Given the description of an element on the screen output the (x, y) to click on. 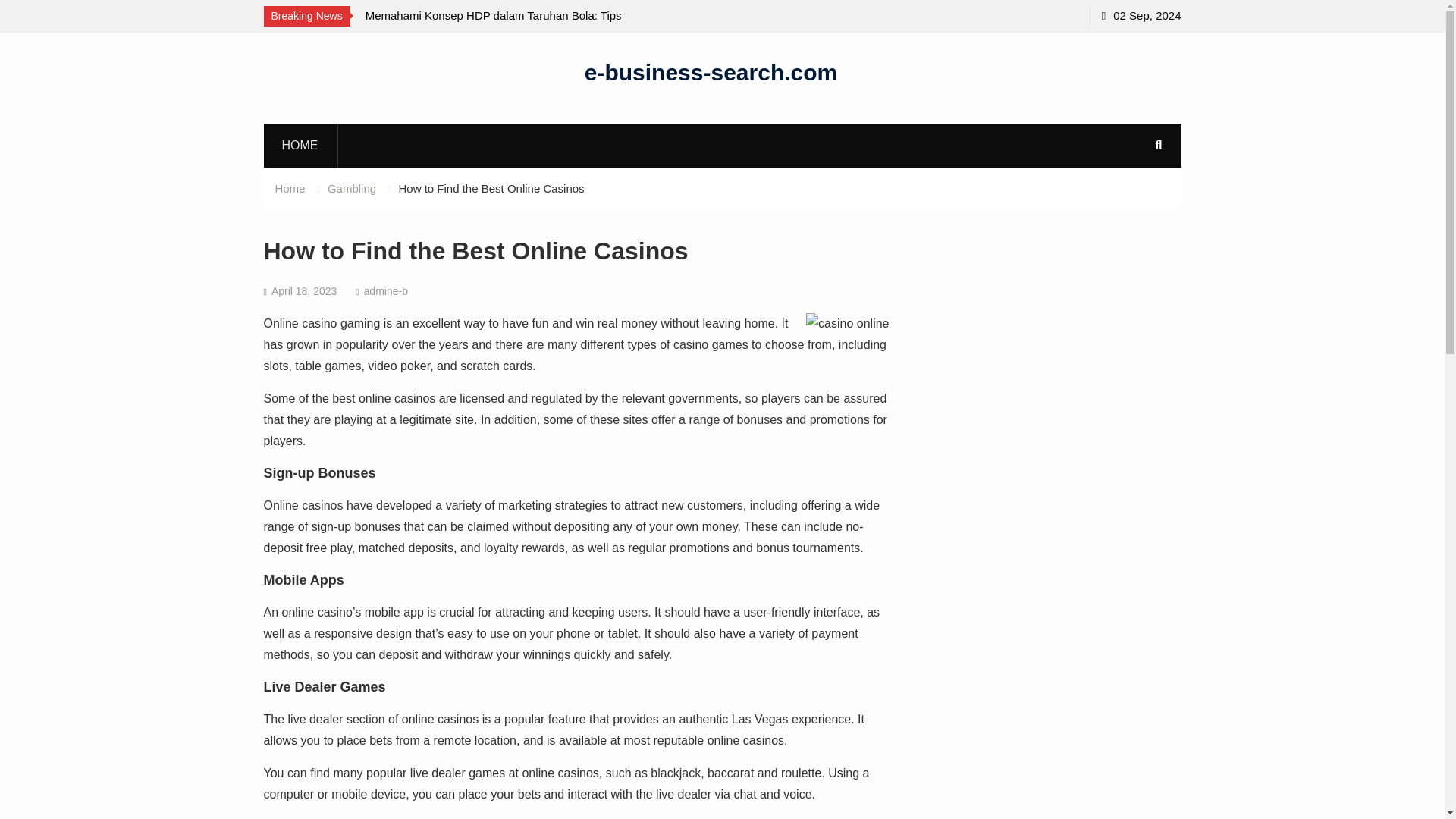
admine-b (385, 291)
e-business-search.com (711, 71)
HOME (299, 144)
Home (289, 187)
Gambling (351, 187)
April 18, 2023 (303, 291)
Memahami Konsep HDP dalam Taruhan Bola: Tips dan Trik (502, 25)
